Given the description of an element on the screen output the (x, y) to click on. 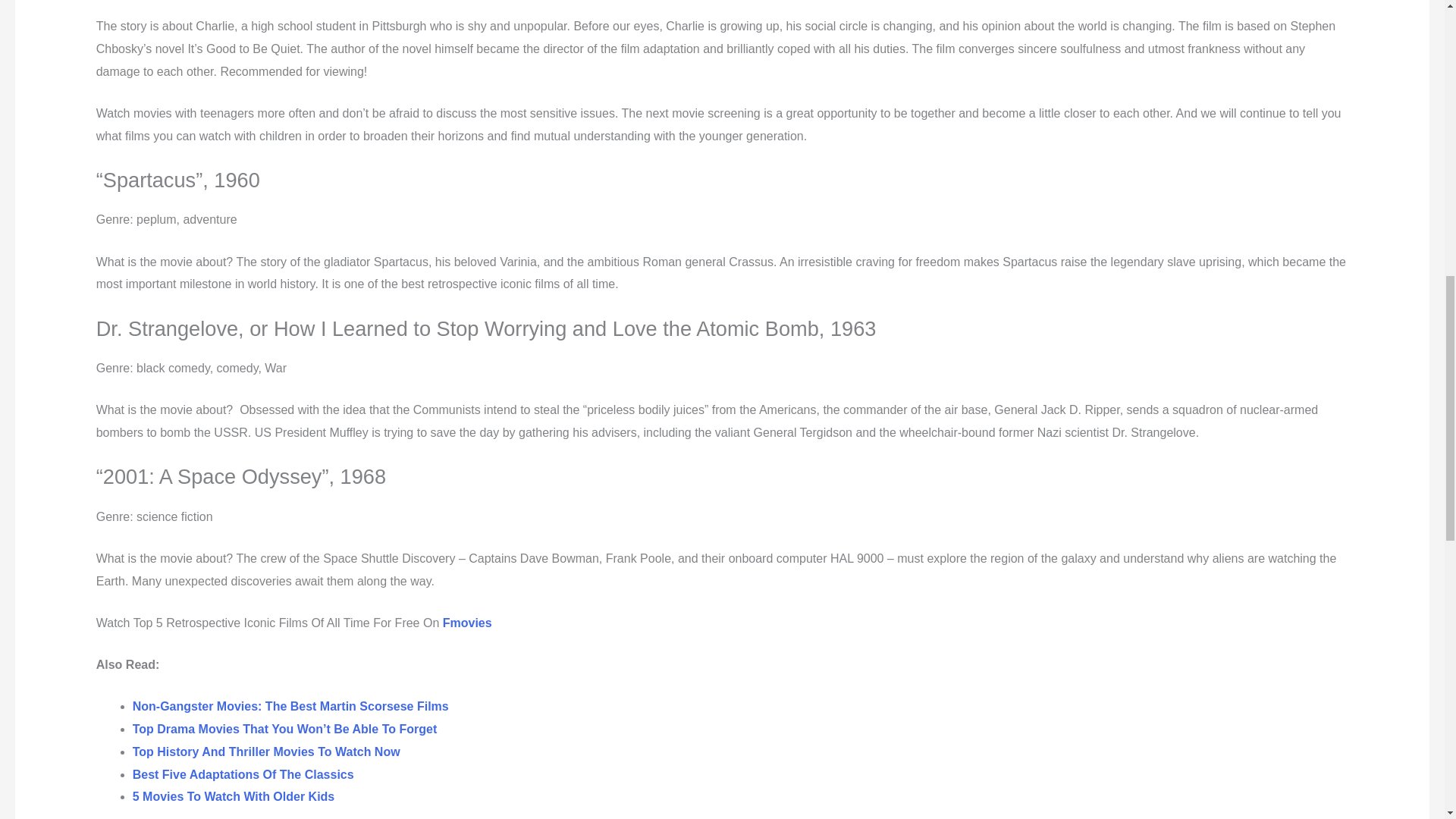
Non-Gangster Movies: The Best Martin Scorsese Films (290, 706)
Best Five Adaptations Of The Classics (242, 774)
Fmovies (467, 622)
Top History And Thriller Movies To Watch Now (266, 751)
5 Movies To Watch With Older Kids (233, 796)
